Given the description of an element on the screen output the (x, y) to click on. 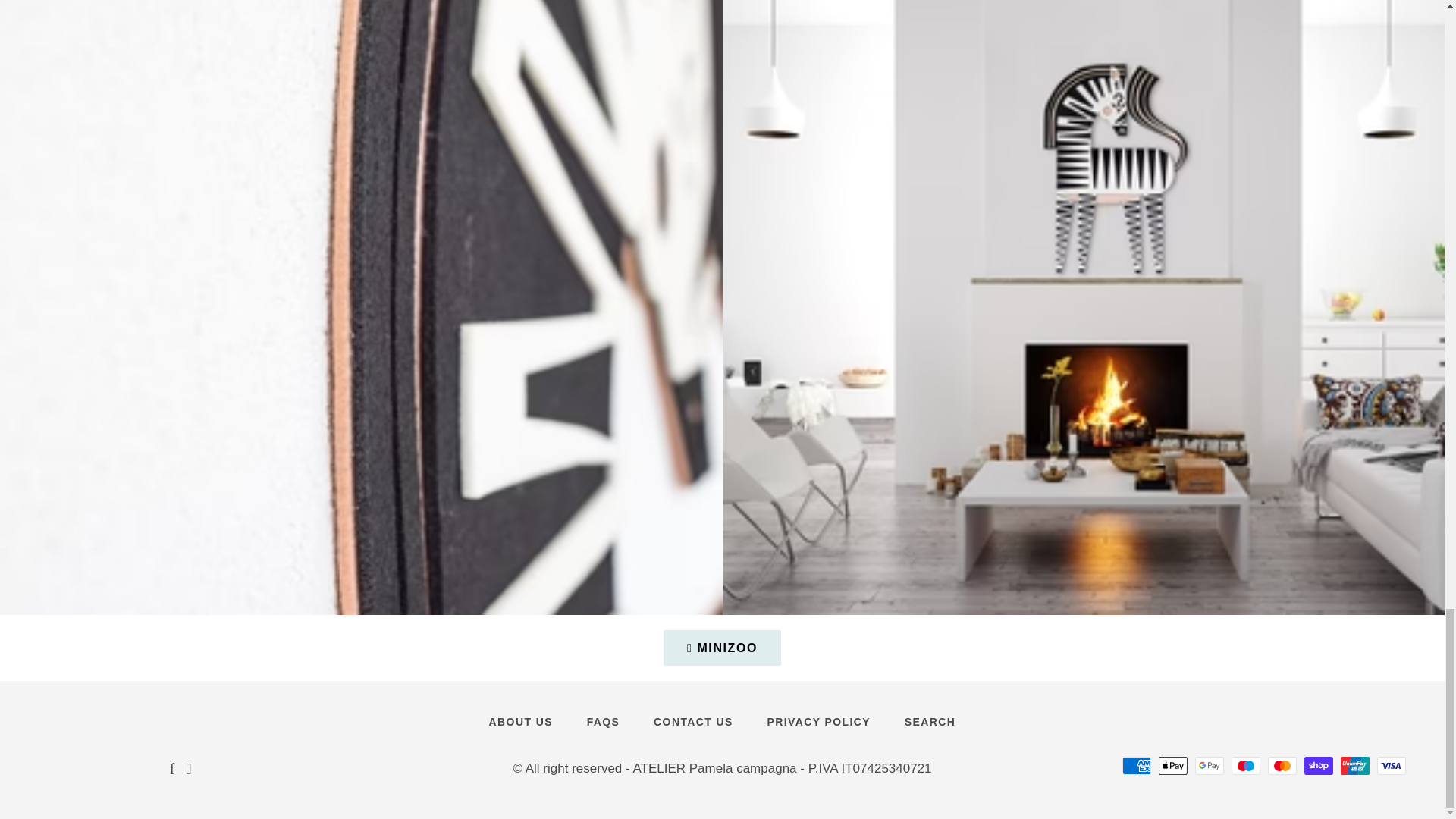
ABOUT US (520, 722)
Apple Pay (1173, 765)
MINIZOO (721, 647)
Mastercard (1282, 765)
PRIVACY POLICY (819, 722)
Shop Pay (1318, 765)
Union Pay (1355, 765)
FAQS (603, 722)
CONTACT US (693, 722)
American Express (1136, 765)
